Given the description of an element on the screen output the (x, y) to click on. 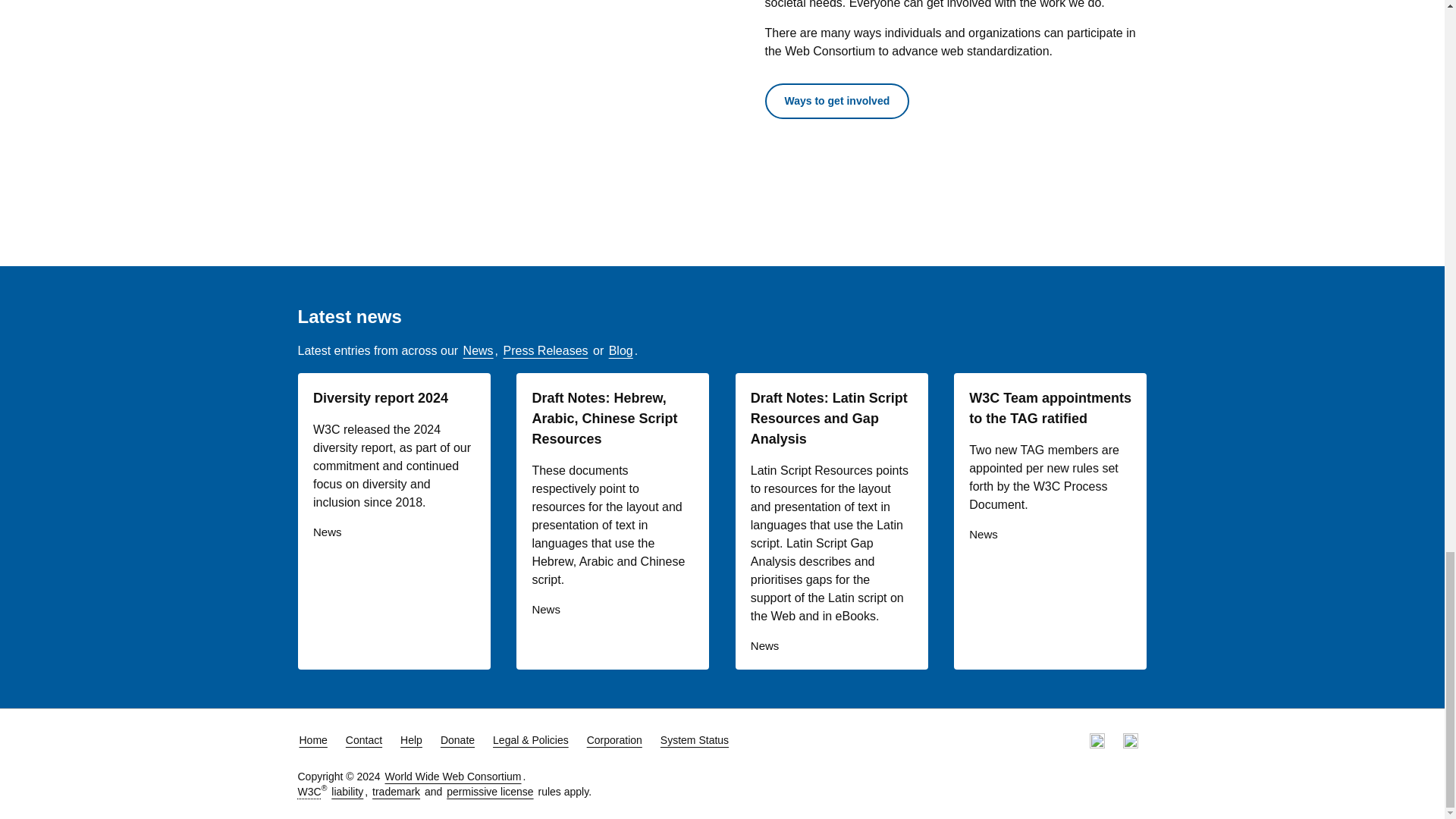
World Wide Web Consortium (308, 791)
W3C Document License (489, 791)
